Given the description of an element on the screen output the (x, y) to click on. 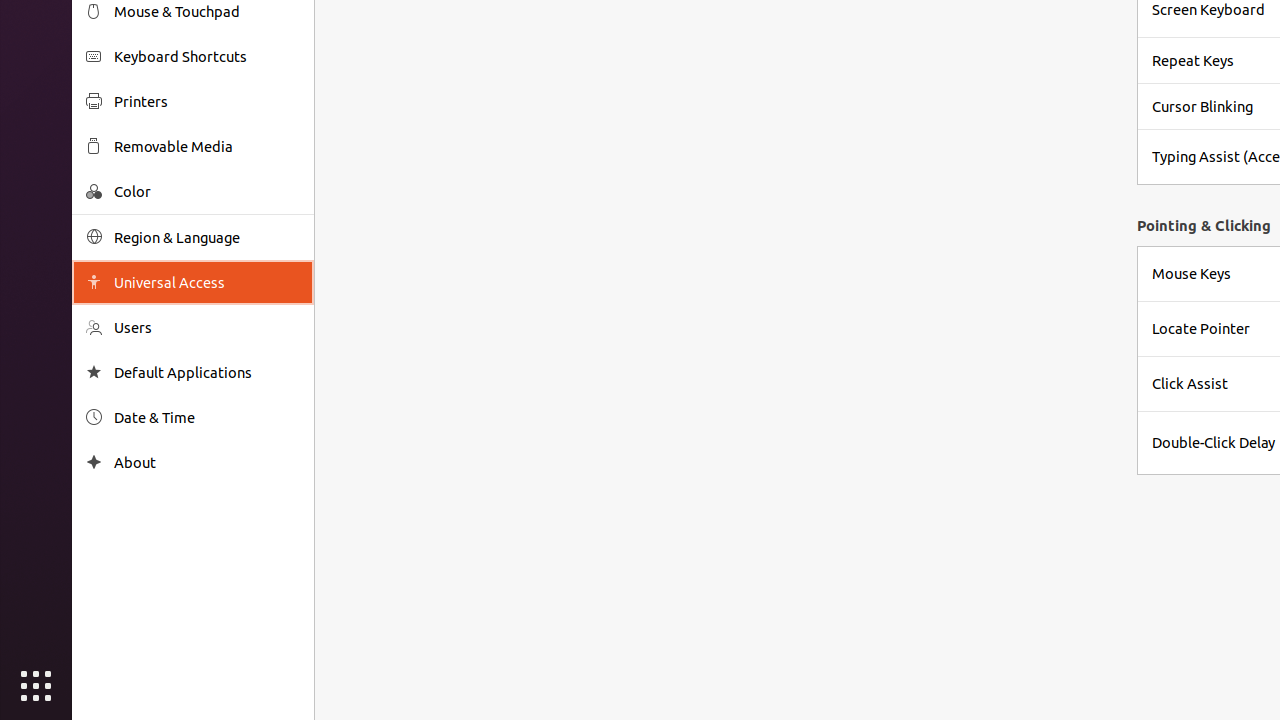
Color Element type: label (207, 191)
About Element type: icon (94, 462)
About Element type: label (207, 462)
